Given the description of an element on the screen output the (x, y) to click on. 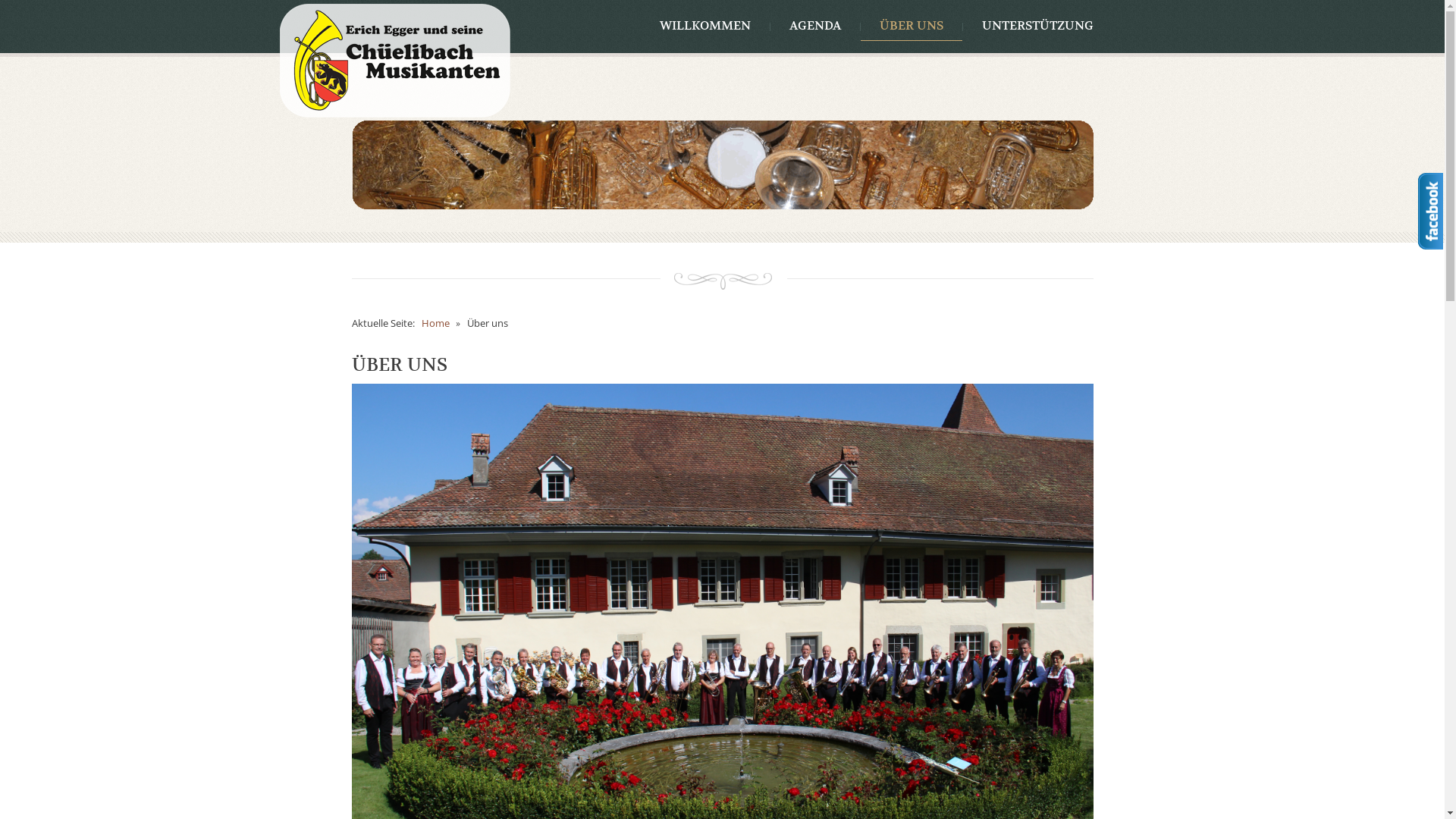
AGENDA Element type: text (814, 26)
WILLKOMMEN Element type: text (704, 26)
Home Element type: text (435, 322)
